Given the description of an element on the screen output the (x, y) to click on. 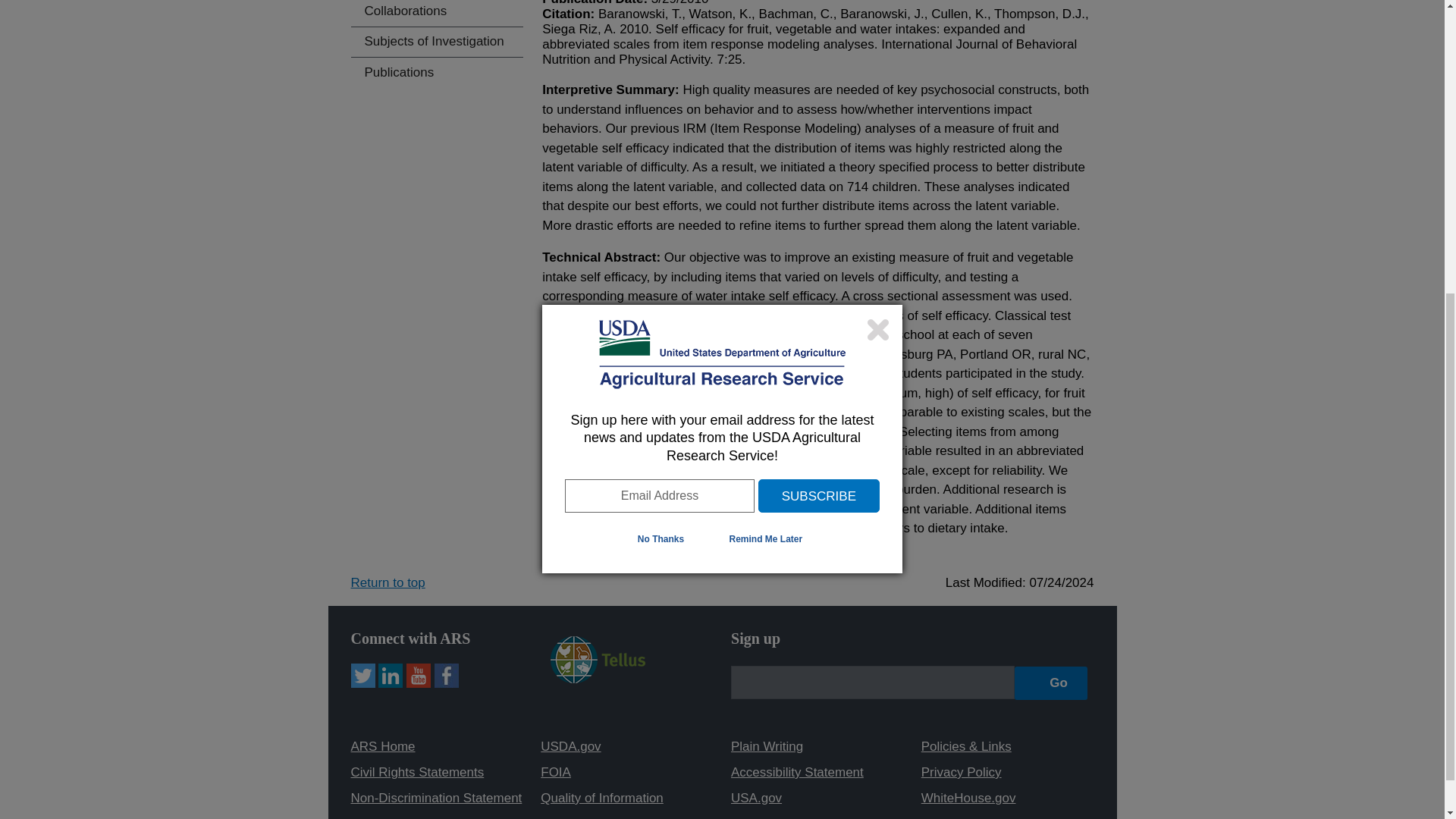
Twitter (362, 674)
Go (1050, 682)
Subjects of Investigation (436, 41)
Tellus (597, 678)
Publications (436, 71)
Tellus (597, 658)
Return to top (387, 581)
email (872, 682)
USDA.gov (569, 746)
Collaborations (436, 13)
ARS Home (382, 746)
Email Address (659, 19)
Go (1050, 682)
LinkedIn (390, 674)
Plain Writing (766, 746)
